Given the description of an element on the screen output the (x, y) to click on. 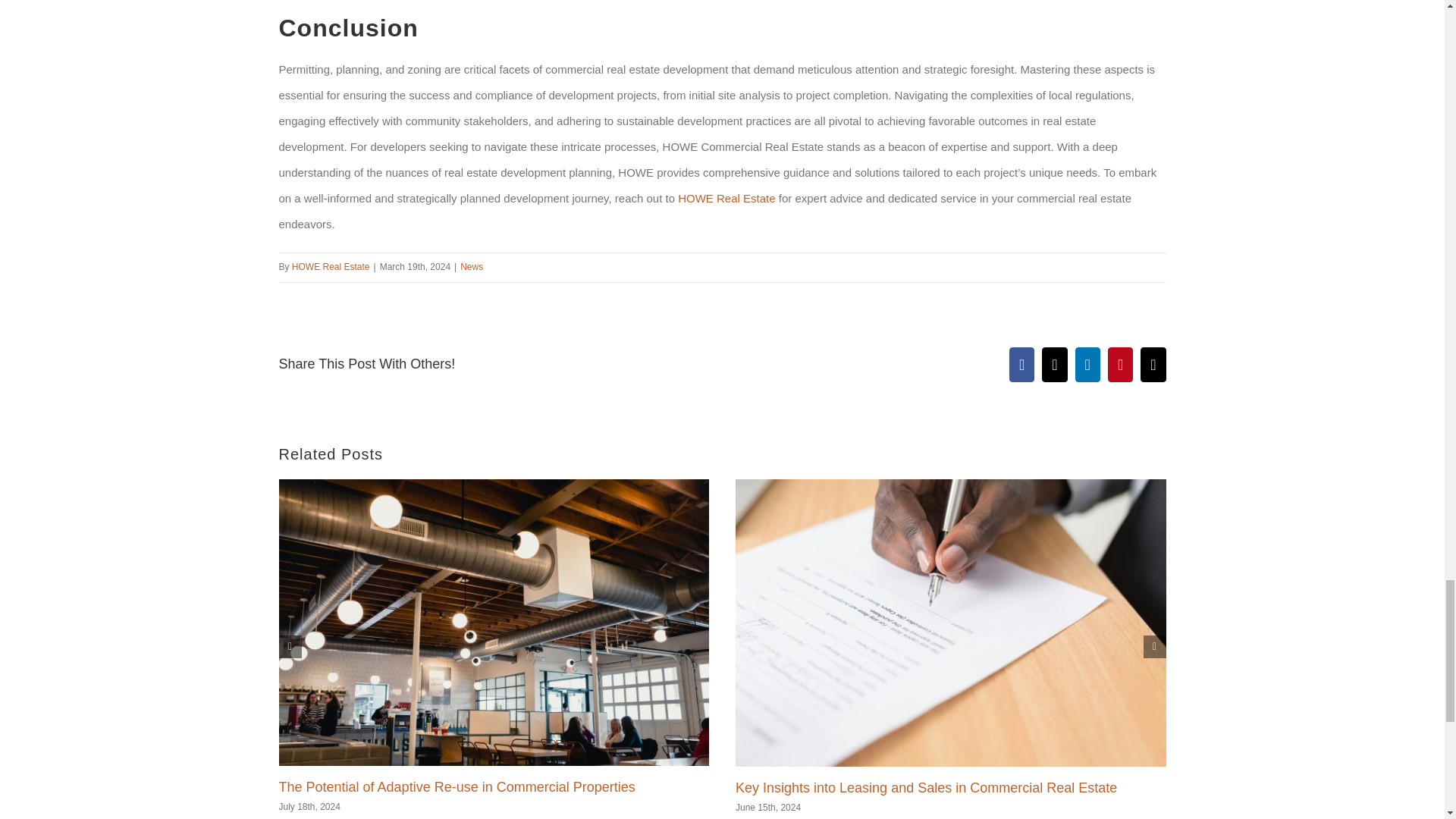
Posts by HOWE Real Estate (330, 266)
News (471, 266)
HOWE Real Estate (726, 197)
The Potential of Adaptive Re-use in Commercial Properties (456, 786)
HOWE Real Estate (330, 266)
The Potential of Adaptive Re-use in Commercial Properties (456, 786)
